Given the description of an element on the screen output the (x, y) to click on. 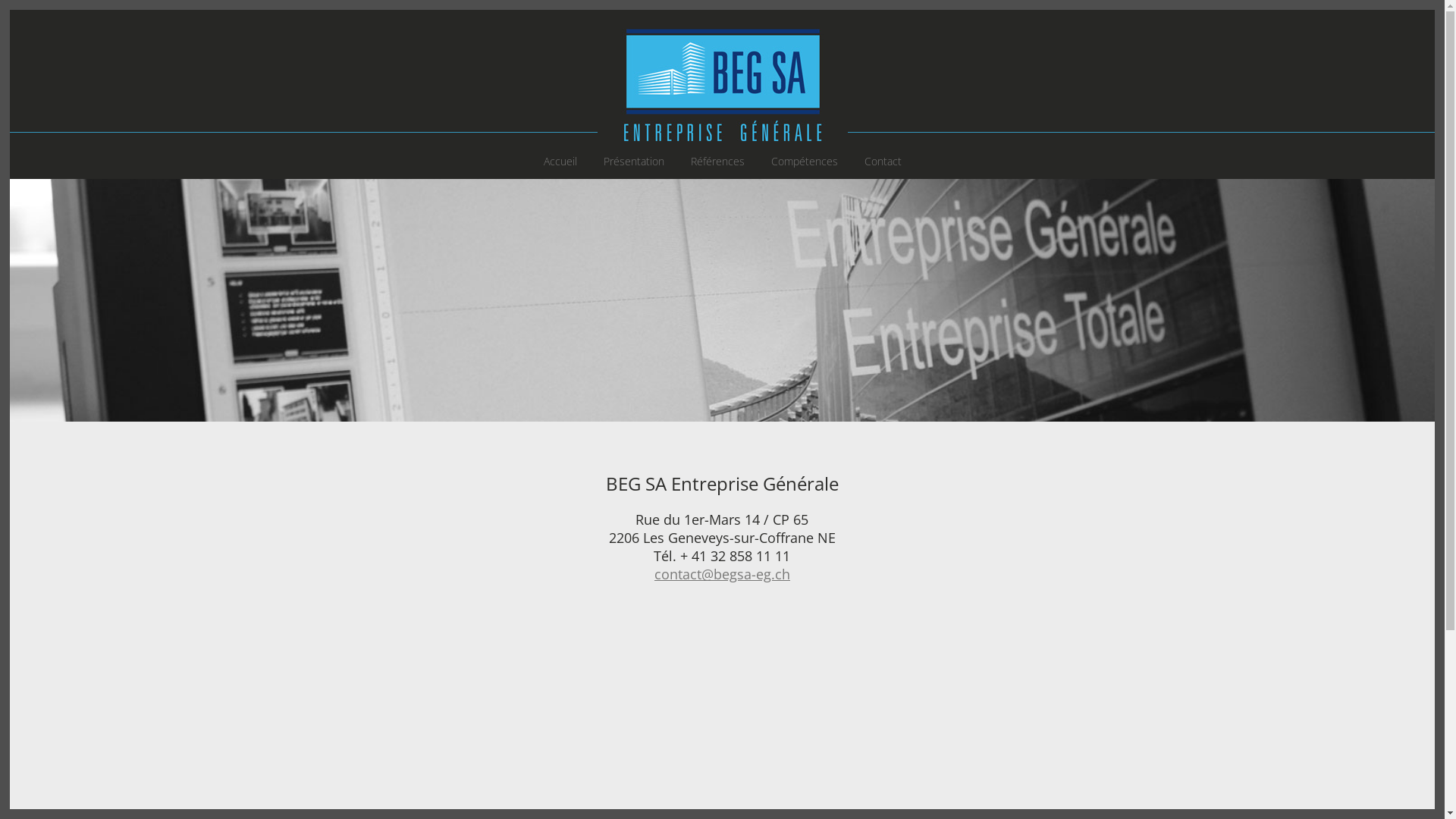
Accueil Element type: text (559, 161)
+ 41 32 858 11 11 Element type: text (735, 555)
Contact Element type: text (882, 161)
contact@begsa-eg.ch Element type: text (722, 573)
